Given the description of an element on the screen output the (x, y) to click on. 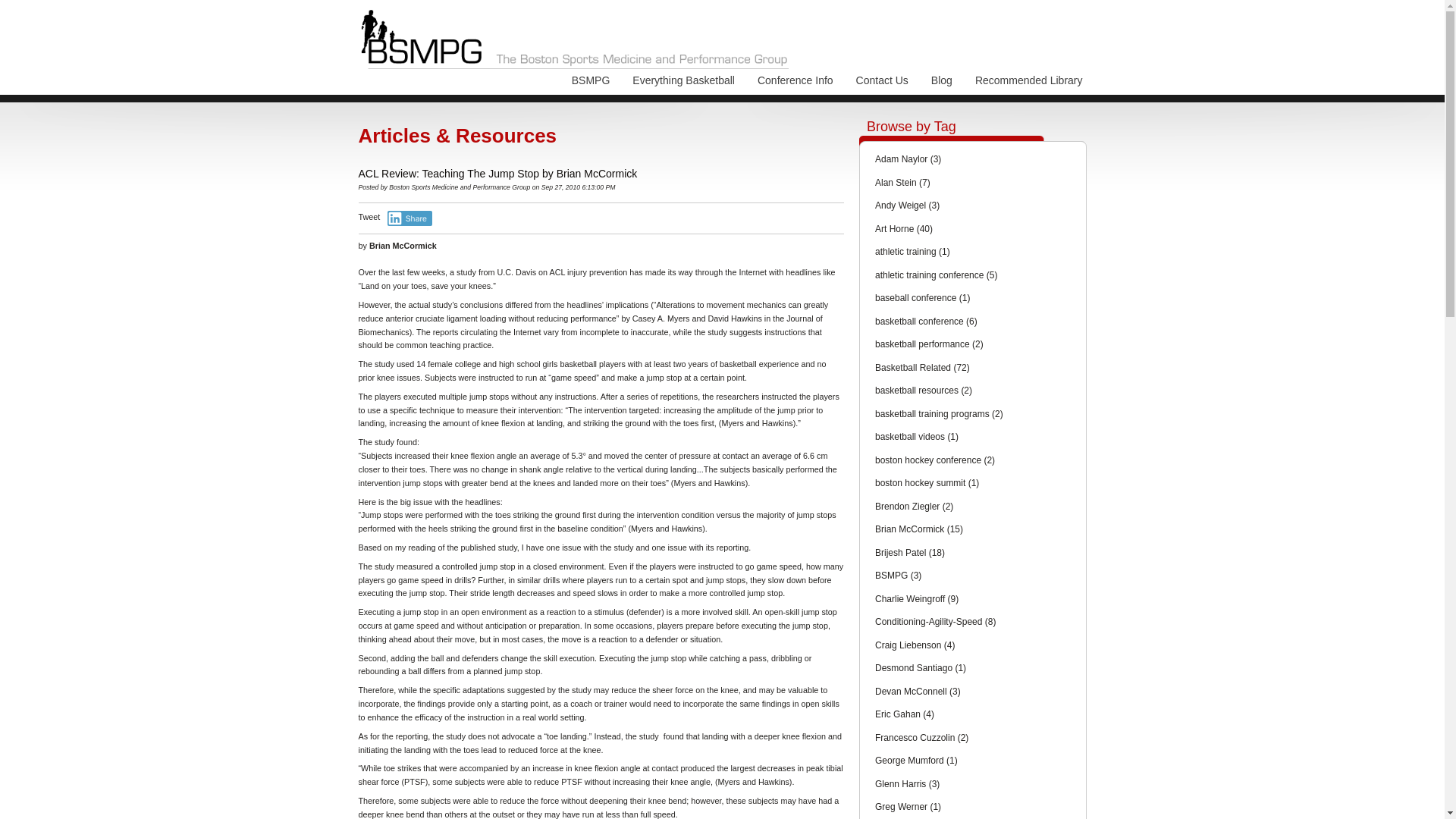
BSMPG (590, 84)
Contact Us (882, 84)
BSMPG Logo (574, 39)
Everything Basketball (683, 84)
Conference Info (794, 84)
Blog (941, 84)
Recommended Library (1024, 84)
